Given the description of an element on the screen output the (x, y) to click on. 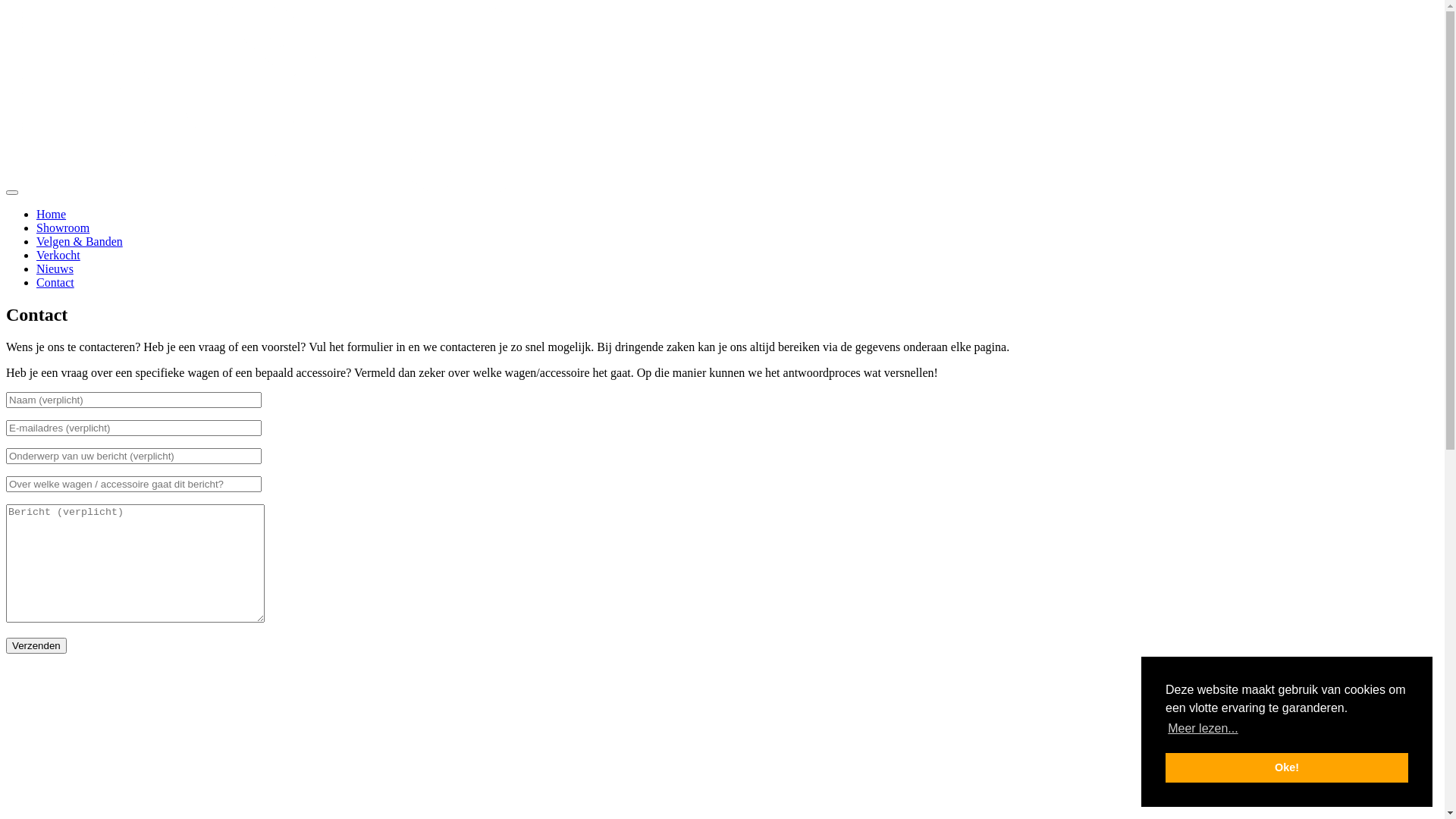
Home Element type: text (50, 213)
Contact Element type: text (55, 282)
Nieuws Element type: text (54, 268)
Showroom Element type: text (62, 227)
Verkocht Element type: text (58, 254)
Oke! Element type: text (1286, 767)
Verzenden Element type: text (36, 645)
Meer lezen... Element type: text (1202, 728)
Velgen & Banden Element type: text (79, 241)
